Given the description of an element on the screen output the (x, y) to click on. 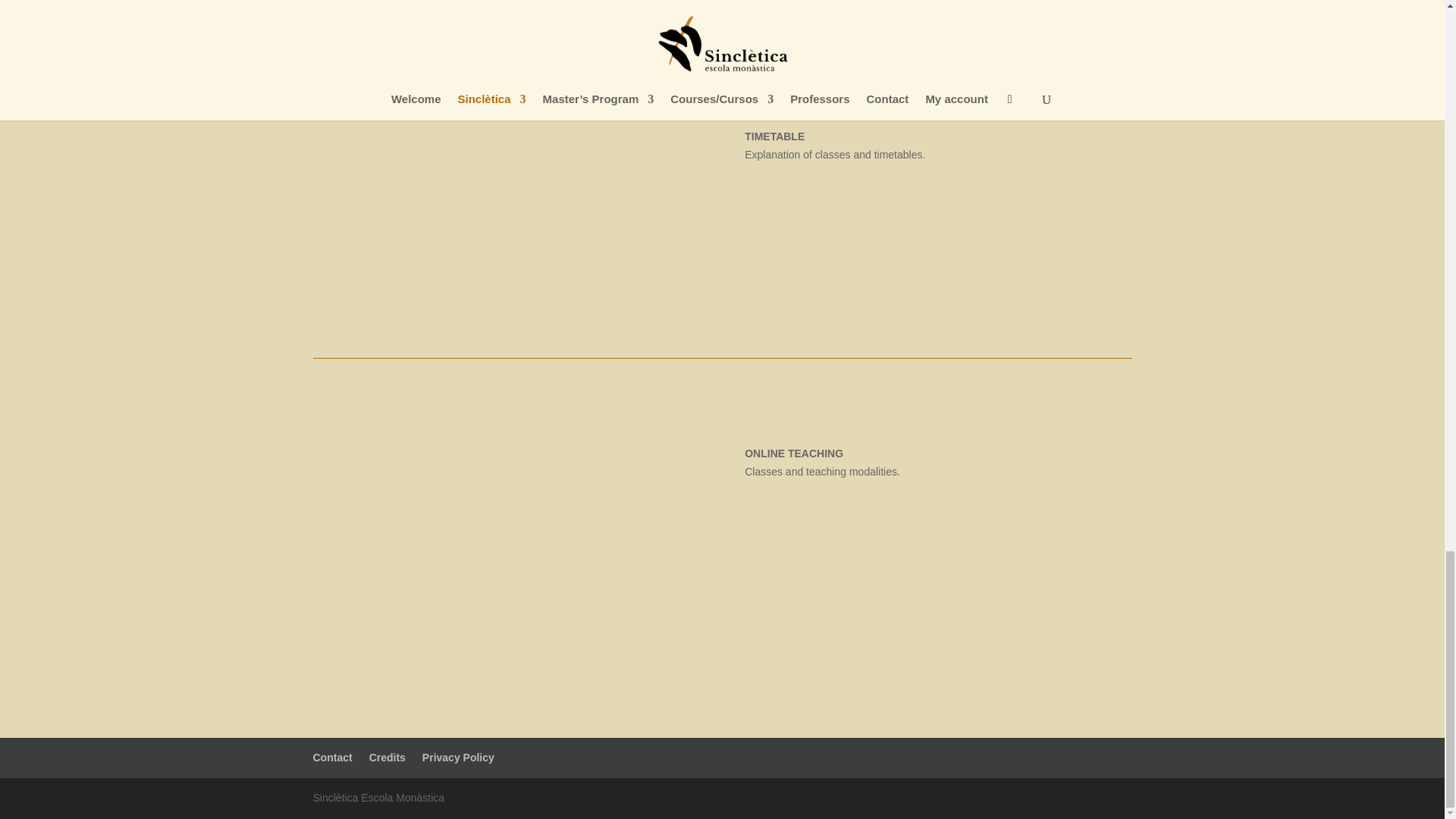
Contact (332, 757)
Credits (387, 757)
